Given the description of an element on the screen output the (x, y) to click on. 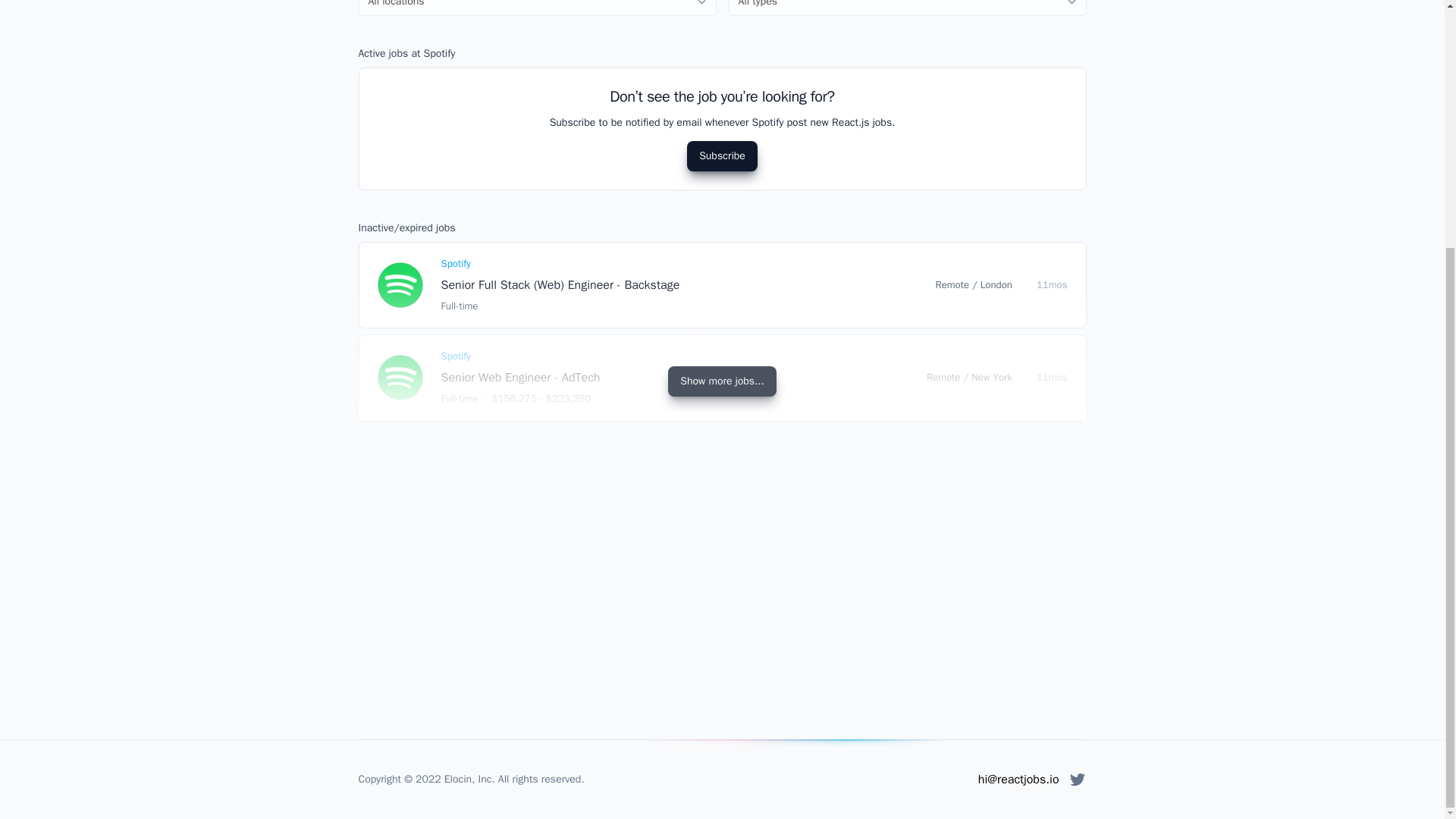
Subscribe (722, 155)
Senior Web Engineer - AdTech (520, 377)
Show more jobs... (722, 381)
